Given the description of an element on the screen output the (x, y) to click on. 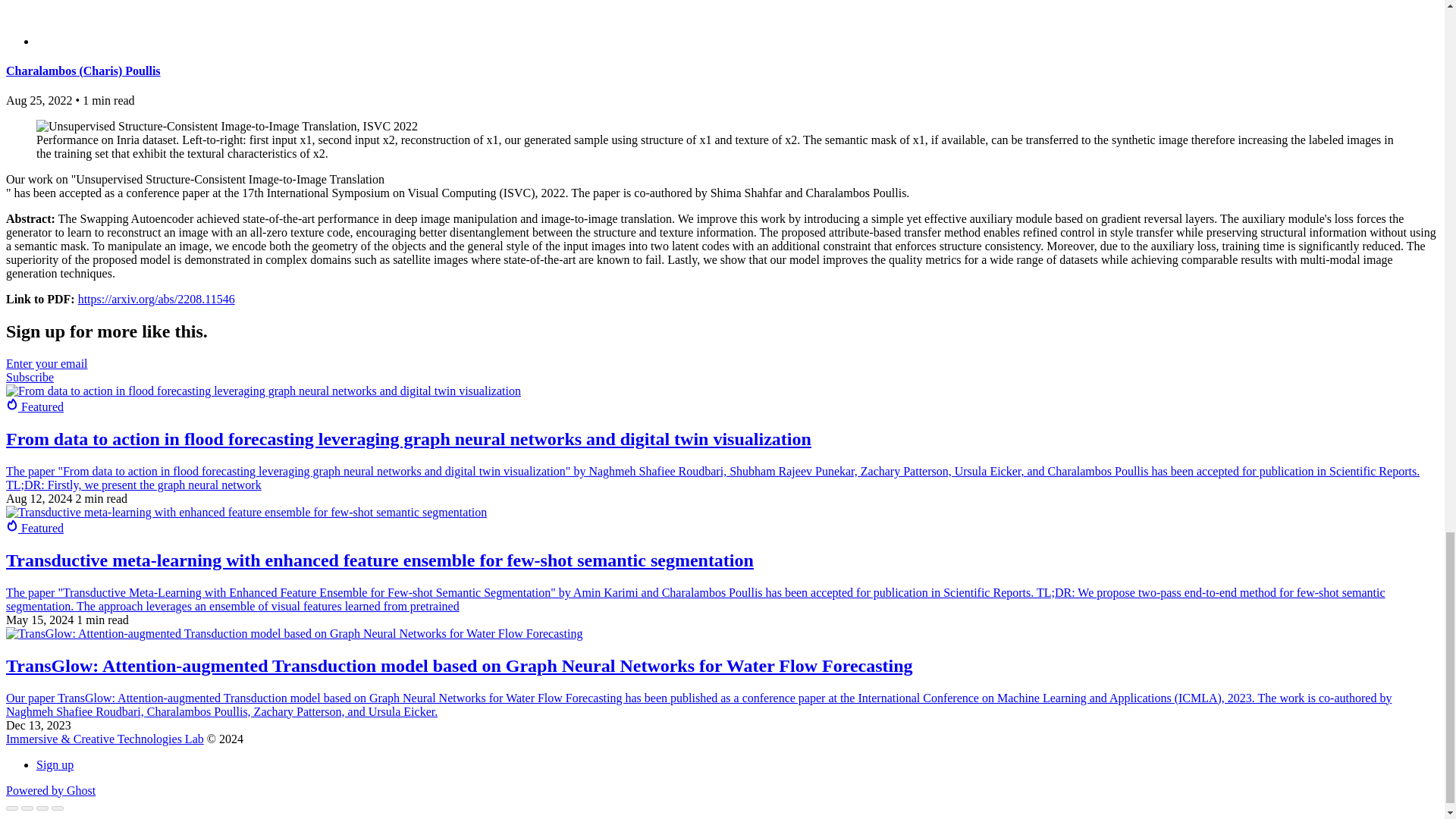
Sign up (55, 764)
Share (27, 807)
Toggle fullscreen (42, 807)
Powered by Ghost (50, 789)
